Given the description of an element on the screen output the (x, y) to click on. 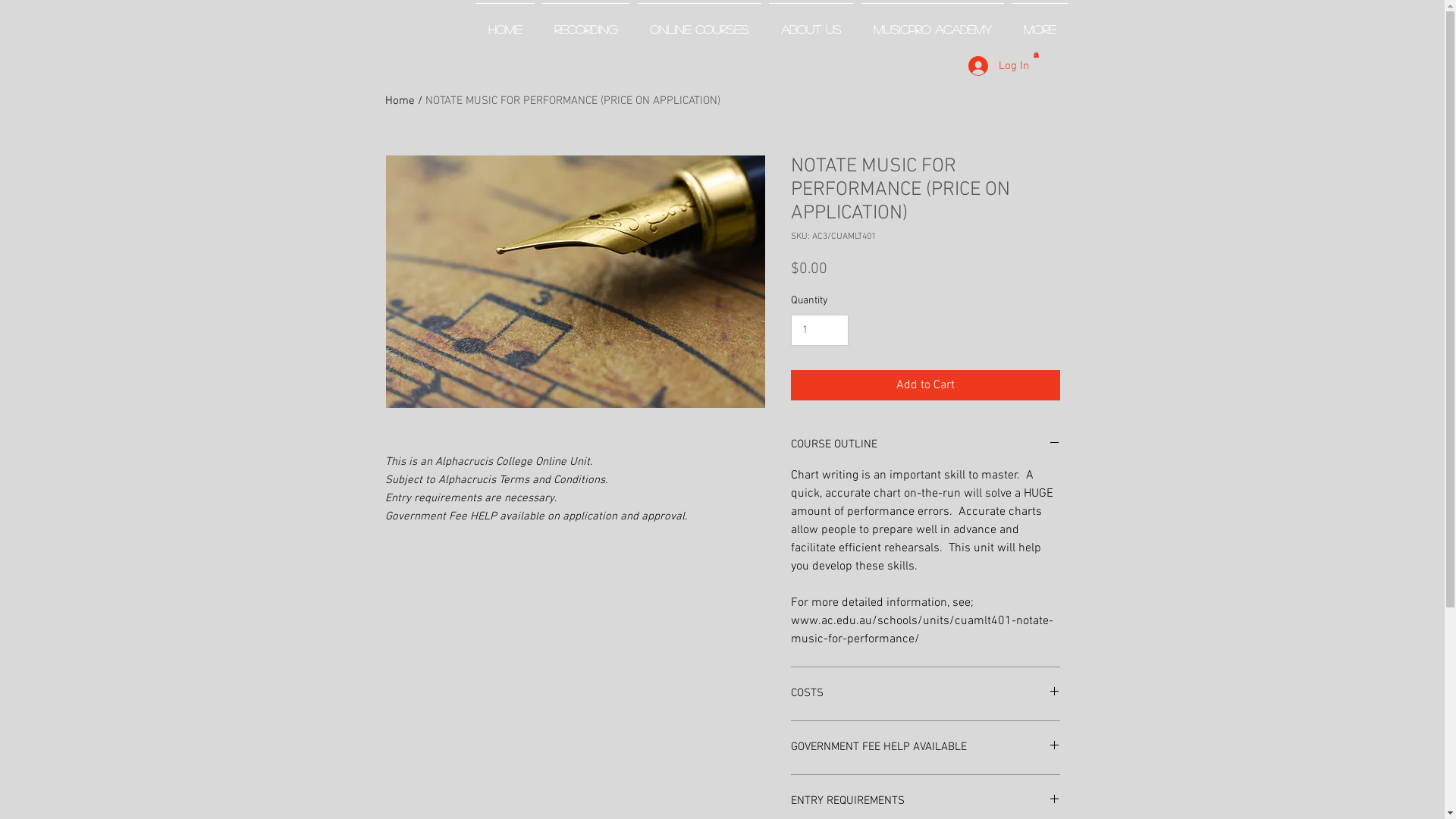
HOME Element type: text (504, 22)
0 Element type: text (1035, 54)
RECORDING Element type: text (585, 22)
COURSE OUTLINE Element type: text (924, 444)
Add to Cart Element type: text (924, 385)
ENTRY REQUIREMENTS Element type: text (924, 801)
Log In Element type: text (988, 65)
ABOUT US Element type: text (810, 22)
MUSICPRO ACADEMY Element type: text (931, 22)
GOVERNMENT FEE HELP AVAILABLE Element type: text (924, 747)
Home Element type: text (399, 100)
ONLINE COURSES Element type: text (699, 22)
COSTS Element type: text (924, 693)
